Given the description of an element on the screen output the (x, y) to click on. 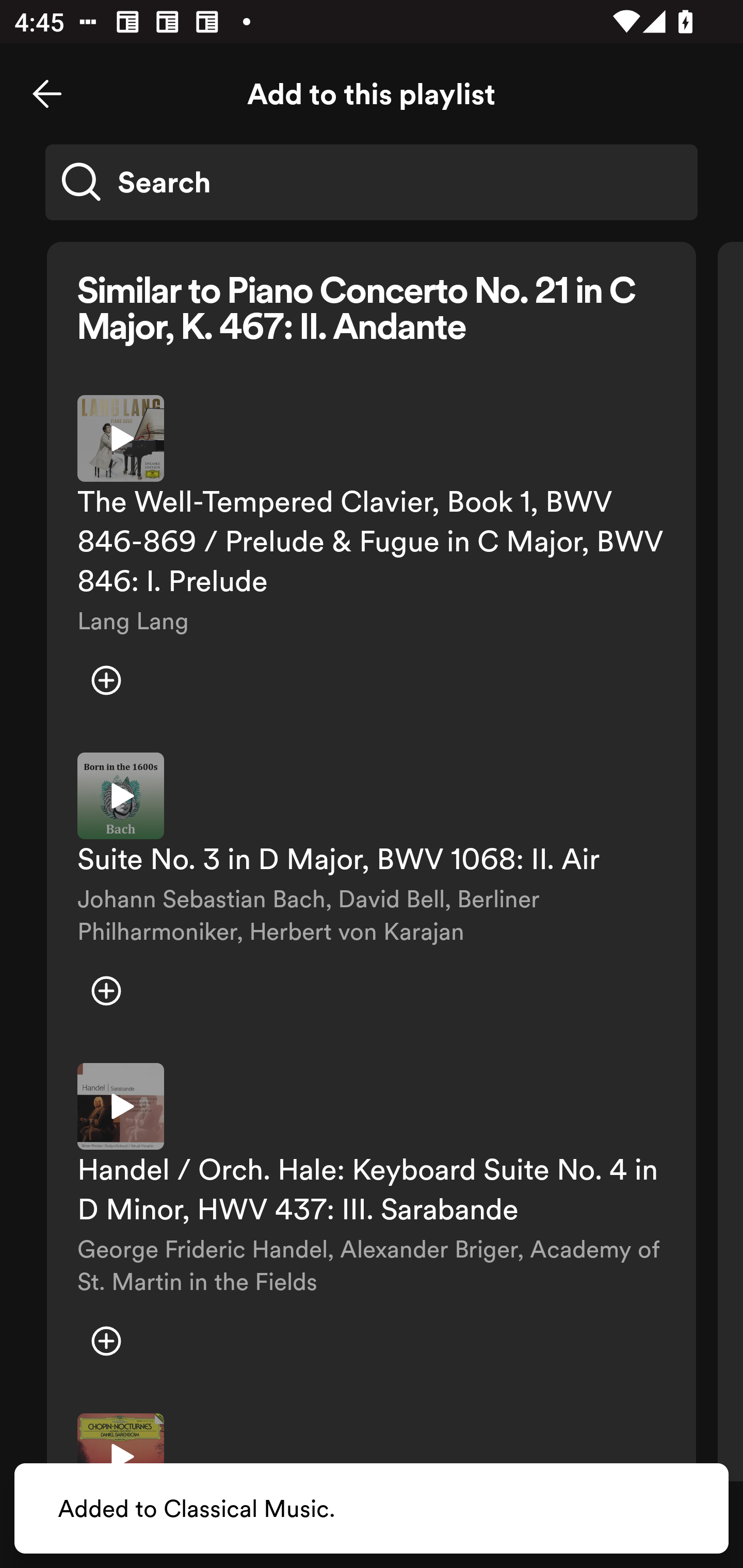
Close (46, 93)
Search (371, 181)
Play preview (120, 438)
Add item (106, 680)
Play preview (120, 795)
Add item (106, 990)
Play preview (120, 1106)
Add item (106, 1341)
